Given the description of an element on the screen output the (x, y) to click on. 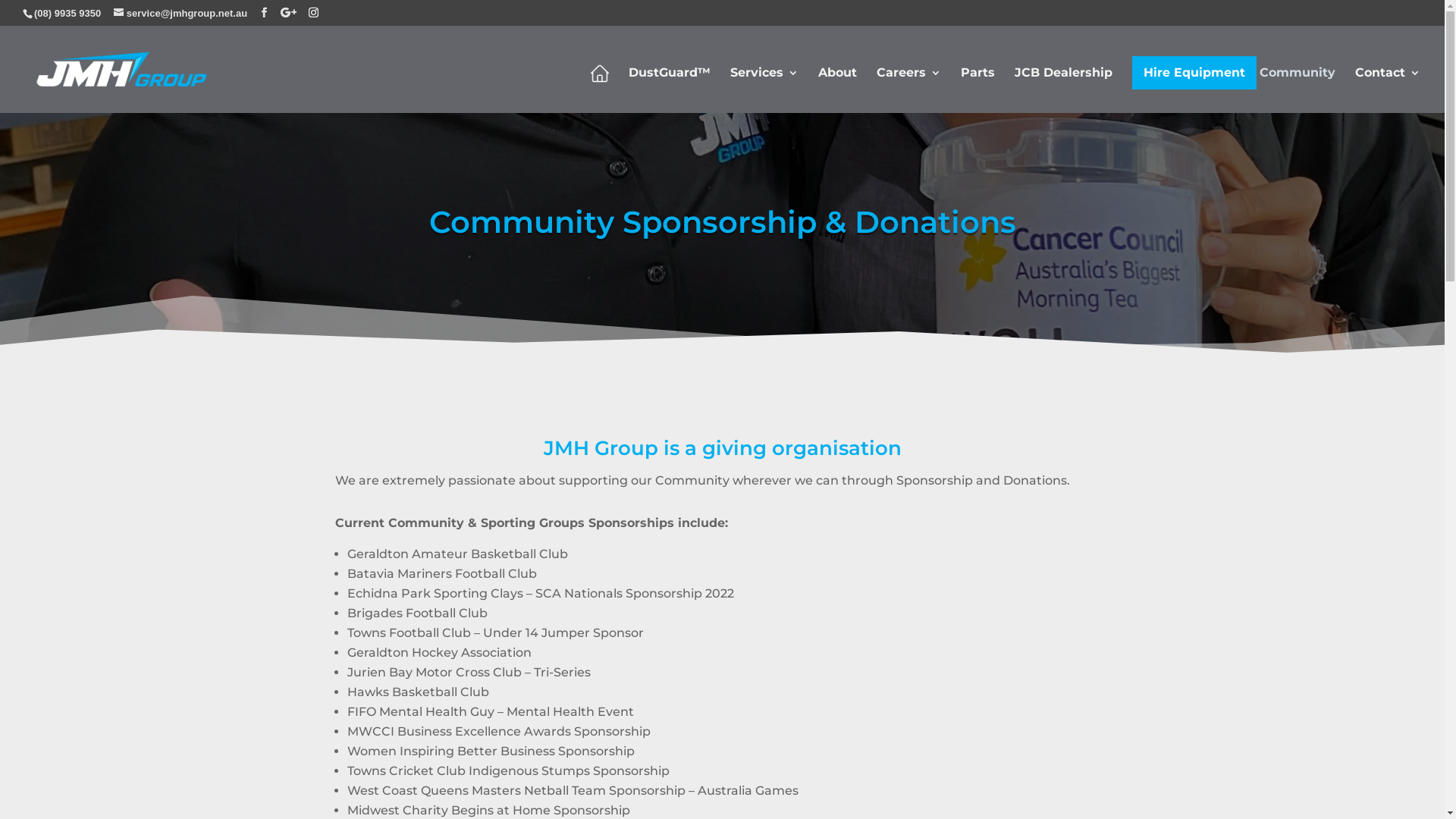
Parts Element type: text (977, 86)
Services Element type: text (764, 86)
Contact Element type: text (1387, 86)
Hire Equipment Element type: text (1194, 72)
service@jmhgroup.net.au Element type: text (180, 12)
About Element type: text (837, 86)
JCB Dealership Element type: text (1063, 86)
Careers Element type: text (908, 86)
(08) 9935 9350 Element type: text (67, 12)
Community Element type: text (1297, 86)
